Given the description of an element on the screen output the (x, y) to click on. 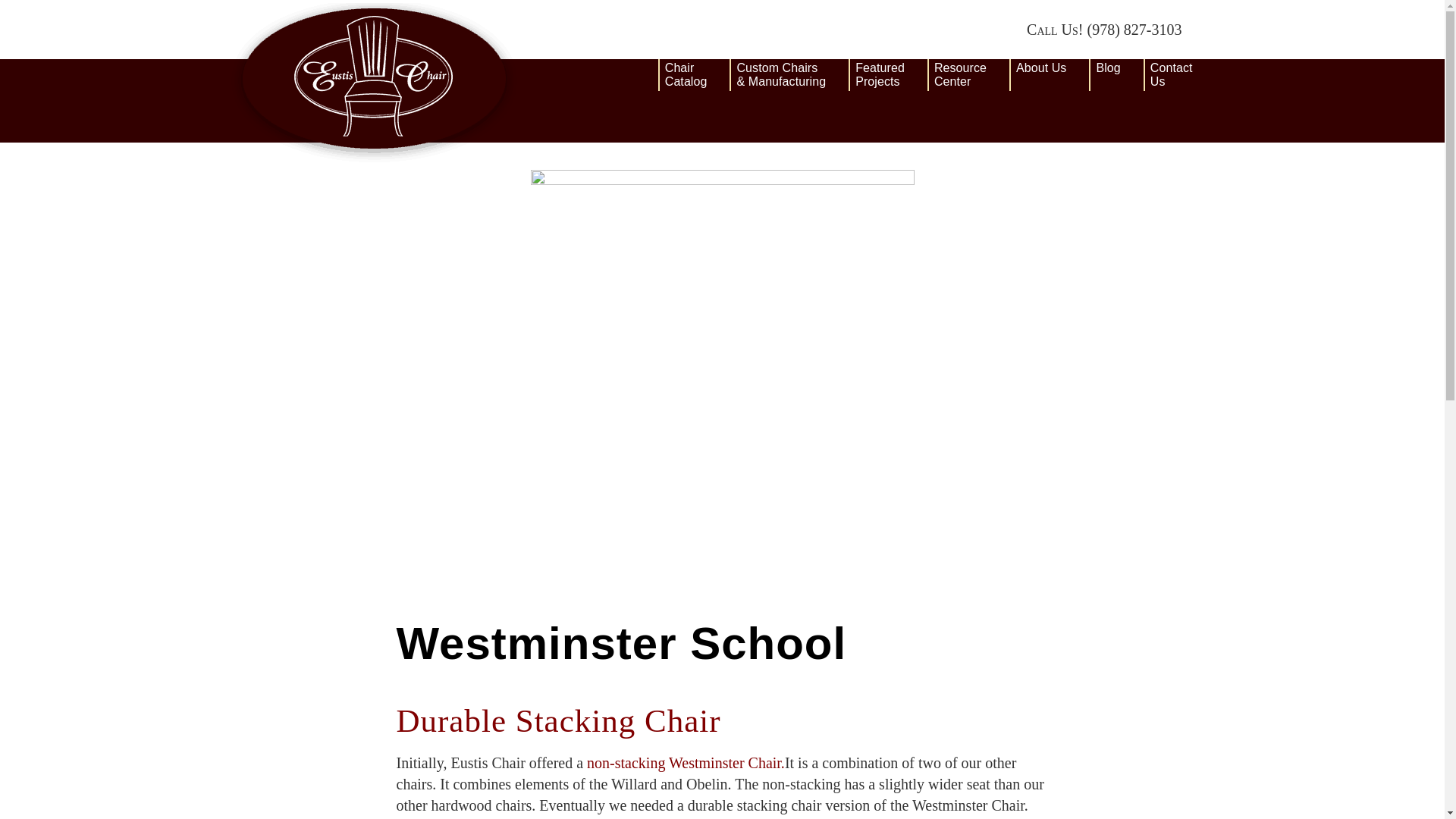
Chair: Westminster; Hardwood - Eustis Chair (694, 74)
